Given the description of an element on the screen output the (x, y) to click on. 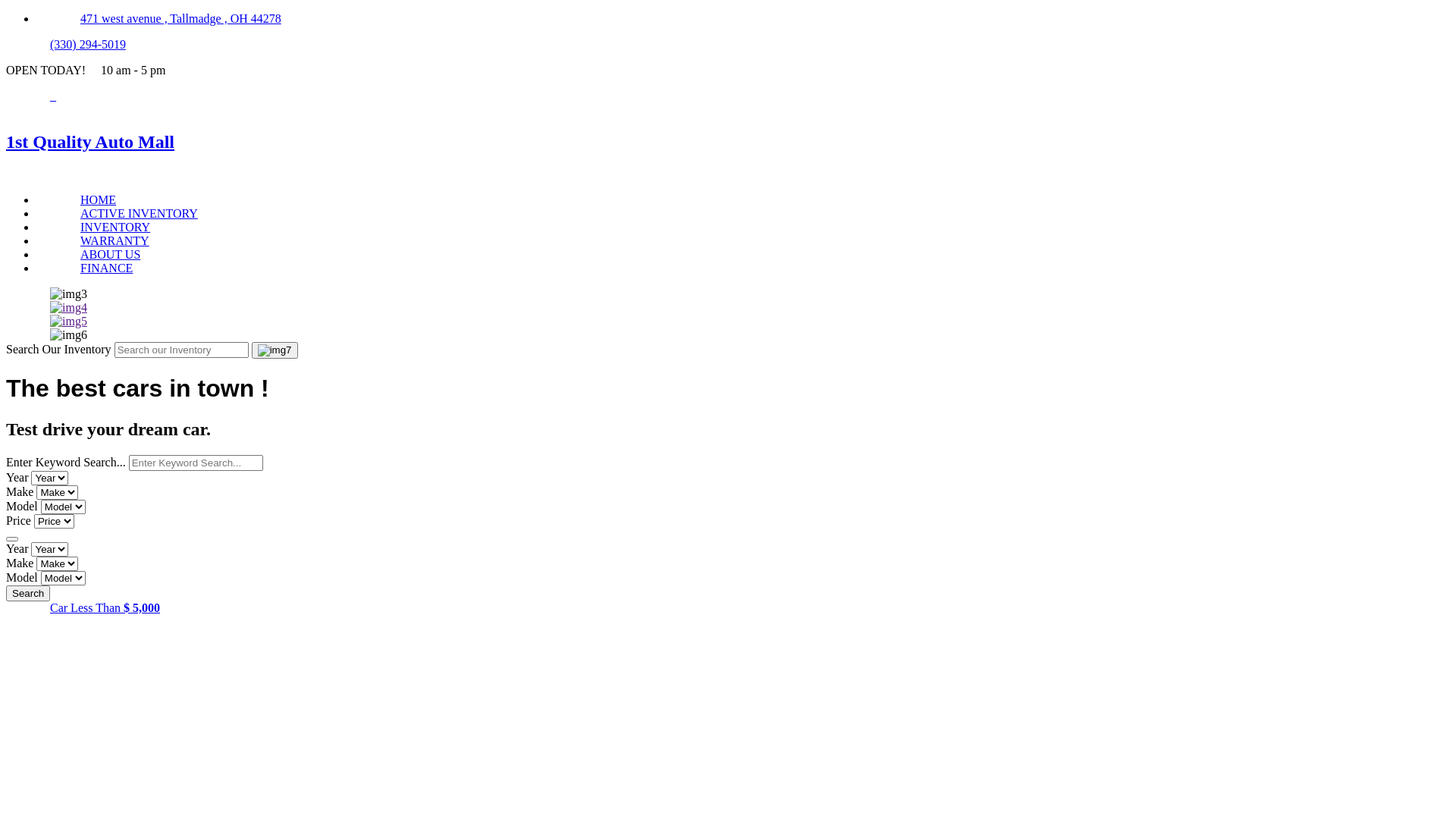
ACTIVE INVENTORY Element type: text (138, 213)
INVENTORY Element type: text (115, 226)
(330) 294-5019 Element type: text (87, 44)
Car Less Than $ 5,000 Element type: text (104, 607)
ABOUT US Element type: text (110, 254)
Search Element type: text (28, 593)
1st Quality Auto Mall Element type: text (727, 141)
FINANCE Element type: text (106, 267)
_ Element type: text (53, 95)
HOME Element type: text (97, 199)
WARRANTY Element type: text (114, 240)
